Given the description of an element on the screen output the (x, y) to click on. 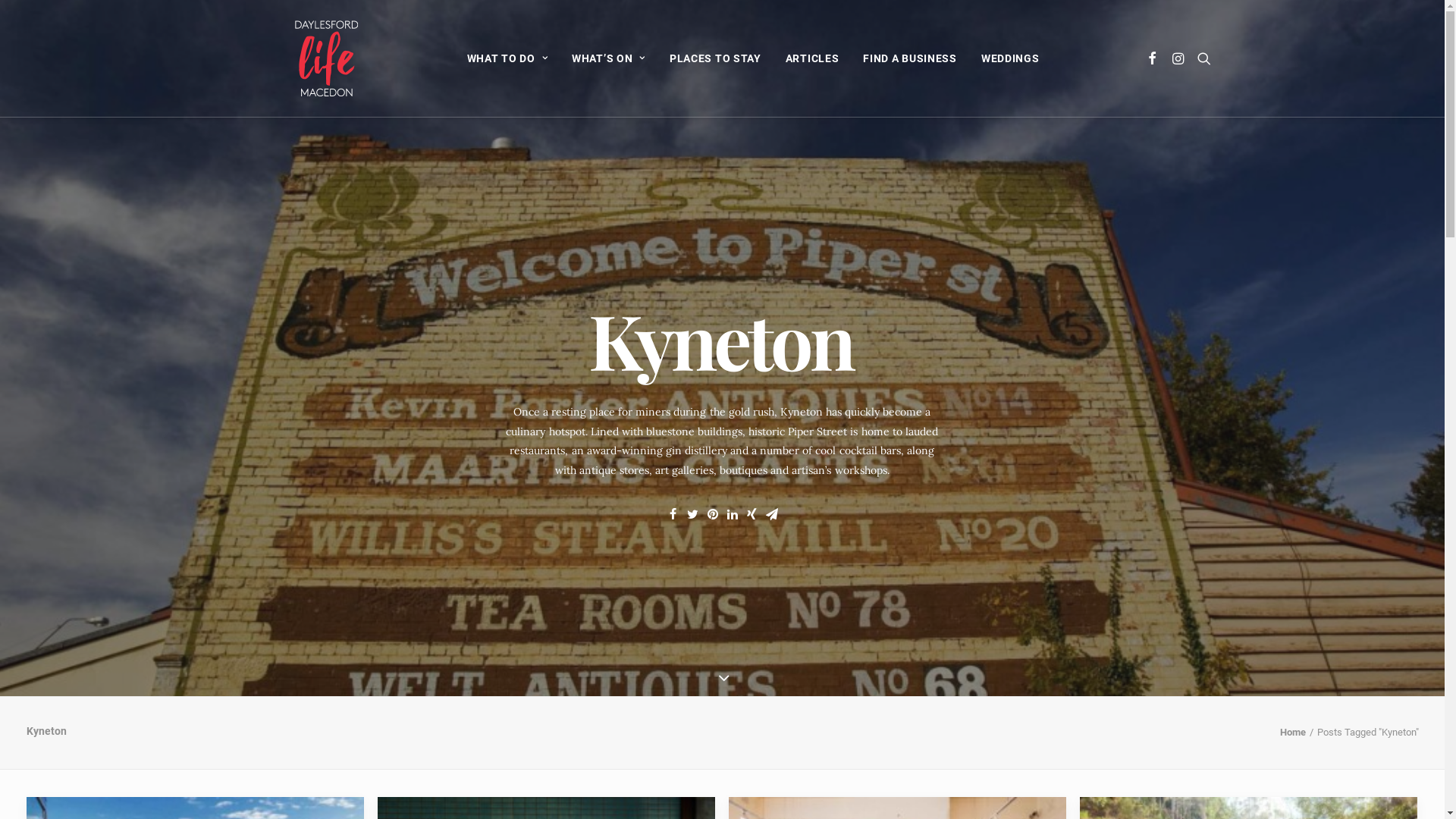
PLACES TO STAY Element type: text (714, 58)
WEDDINGS Element type: text (1010, 58)
FIND A BUSINESS Element type: text (909, 58)
ARTICLES Element type: text (812, 58)
WHAT TO DO Element type: text (507, 58)
Home Element type: text (1292, 731)
